Given the description of an element on the screen output the (x, y) to click on. 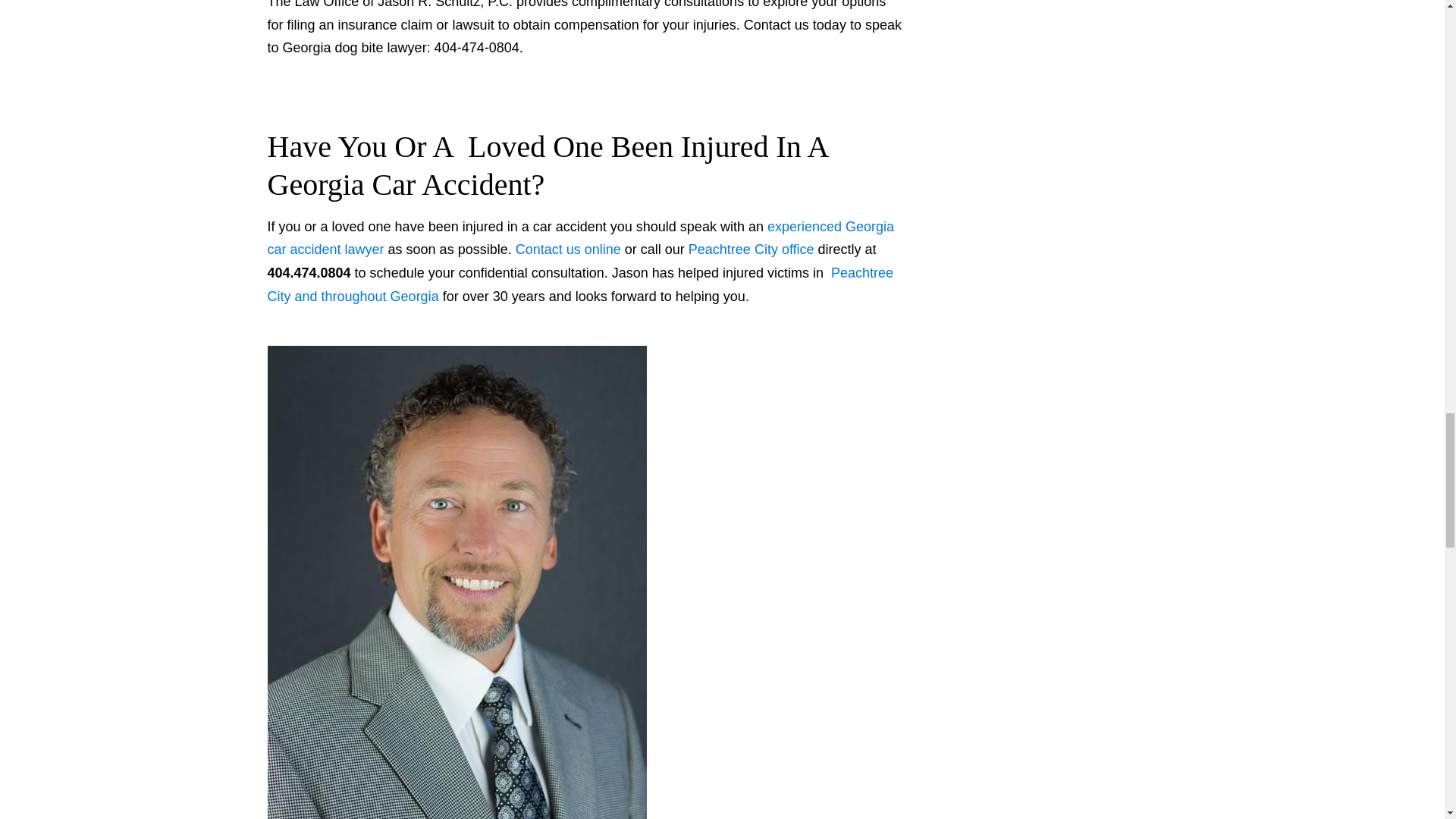
experienced Georgia car accident lawyer (579, 238)
Peachtree City office (750, 249)
Contact us online (568, 249)
